Given the description of an element on the screen output the (x, y) to click on. 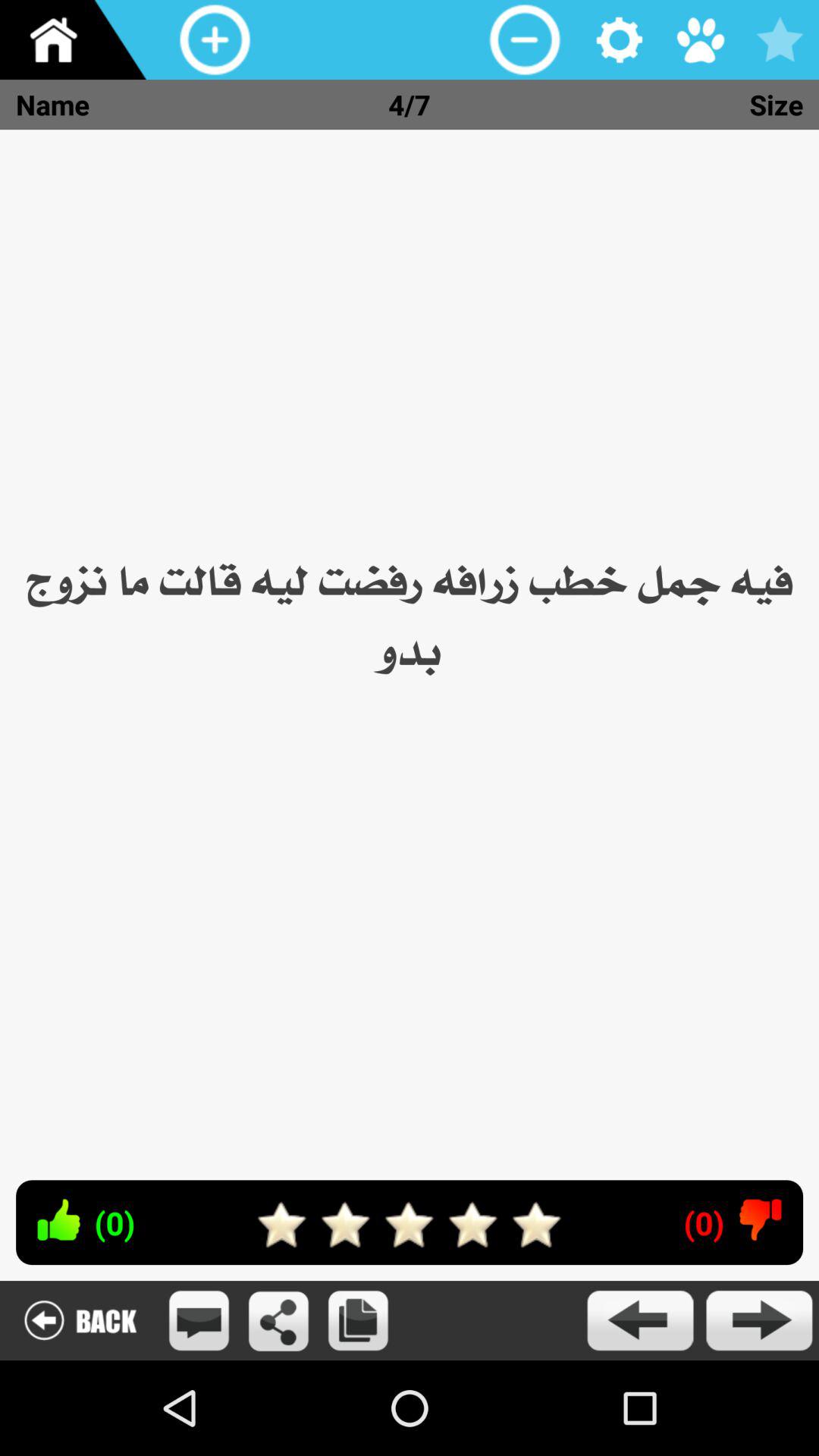
go back (79, 1320)
